Given the description of an element on the screen output the (x, y) to click on. 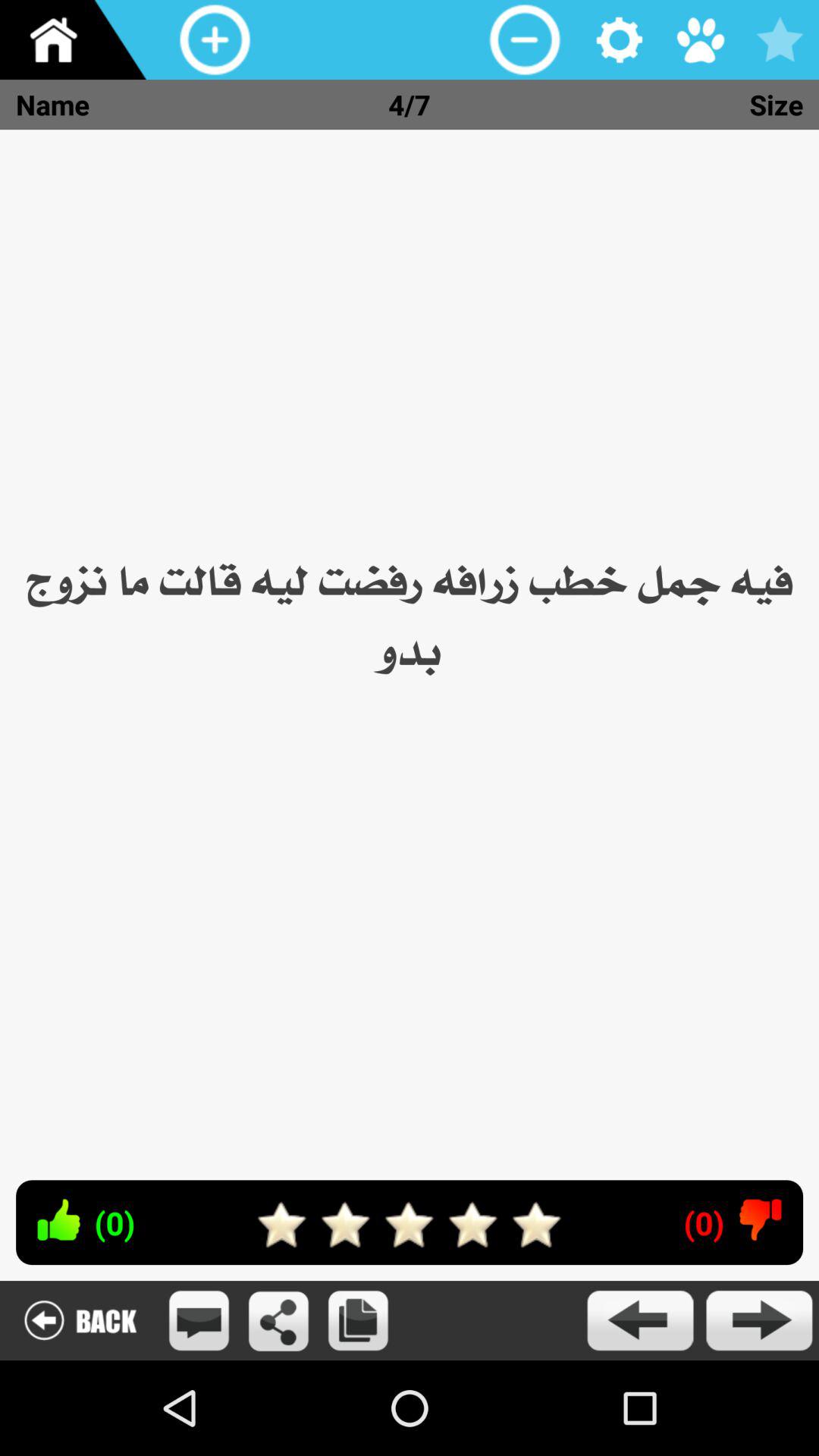
go back (79, 1320)
